Given the description of an element on the screen output the (x, y) to click on. 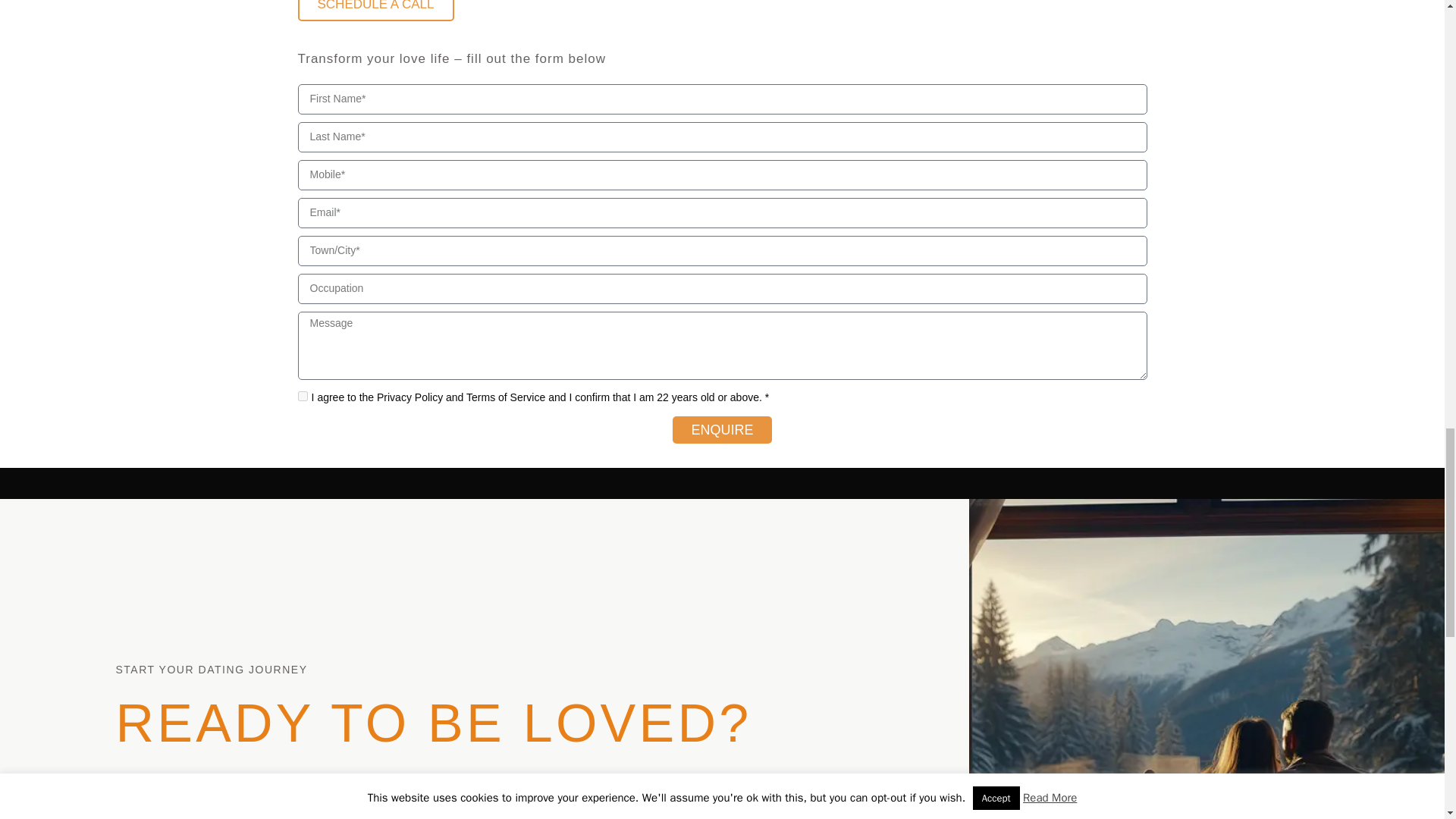
on (302, 396)
